Given the description of an element on the screen output the (x, y) to click on. 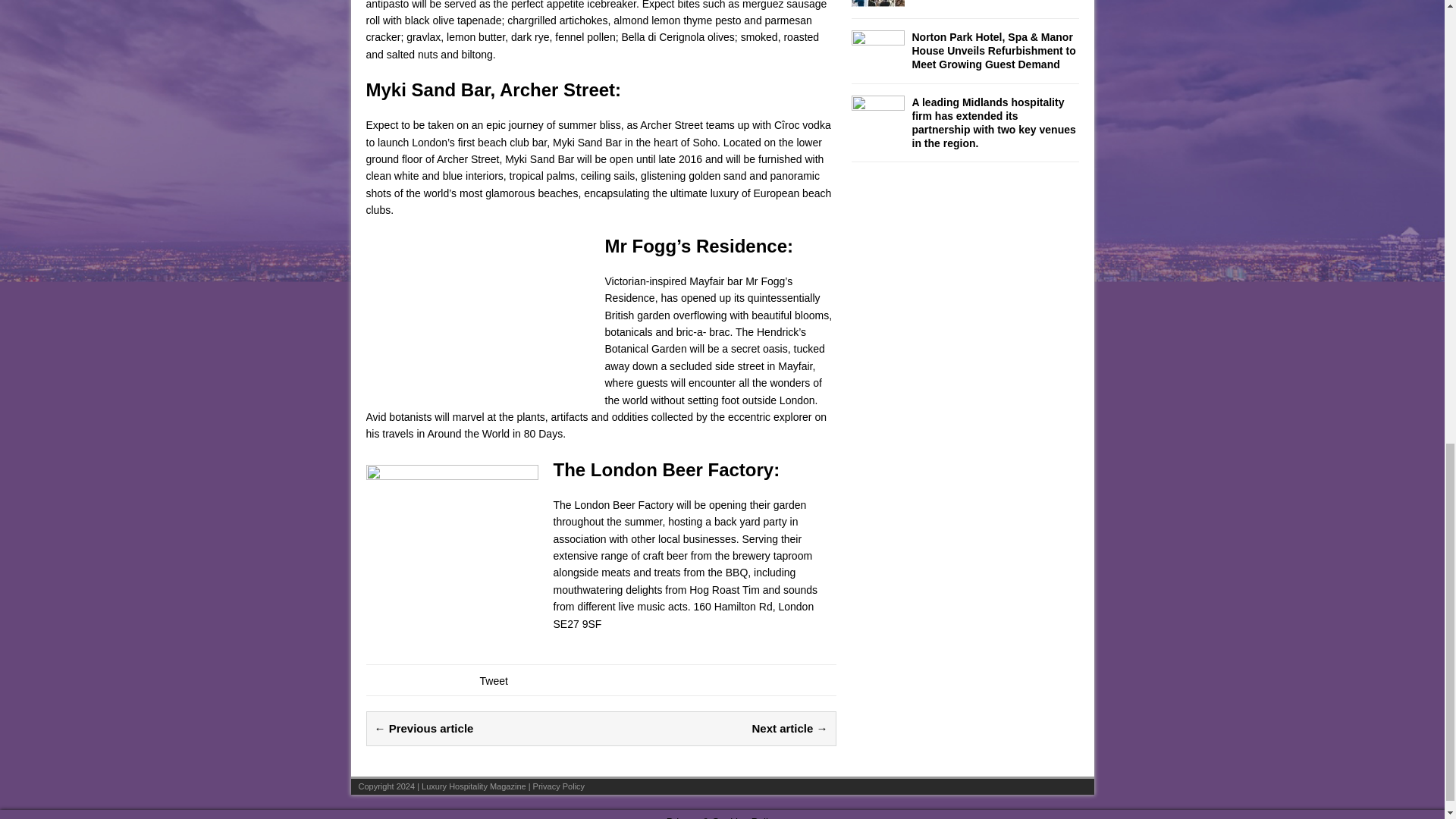
City Lodge Hotels makes giving back Easy (877, 2)
Privacy Policy (558, 786)
Tweet (492, 680)
